Given the description of an element on the screen output the (x, y) to click on. 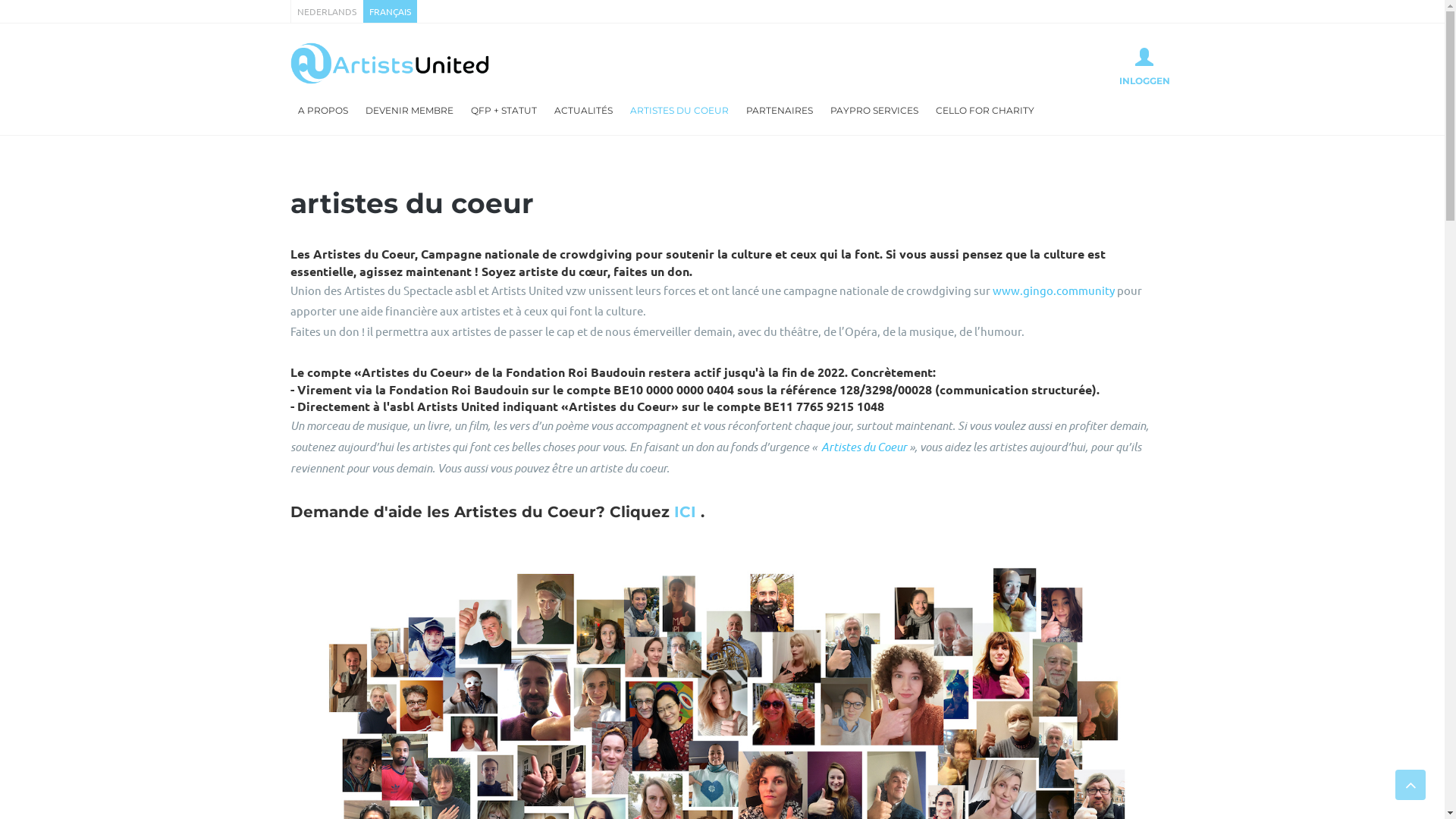
www.gingo.community Element type: text (1052, 289)
INLOGGEN Element type: text (1144, 66)
CELLO FOR CHARITY Element type: text (984, 110)
ICI Element type: text (684, 511)
NEDERLANDS Element type: text (325, 11)
DEVENIR MEMBRE Element type: text (409, 110)
Go to Top Element type: hover (1410, 784)
ARTISTES DU COEUR Element type: text (678, 110)
A PROPOS Element type: text (321, 110)
PARTENAIRES Element type: text (779, 110)
Artistes du Coeur Element type: text (863, 446)
Aller au contenu principal Element type: text (66, 0)
QFP + STATUT Element type: text (502, 110)
PAYPRO SERVICES Element type: text (873, 110)
